Given the description of an element on the screen output the (x, y) to click on. 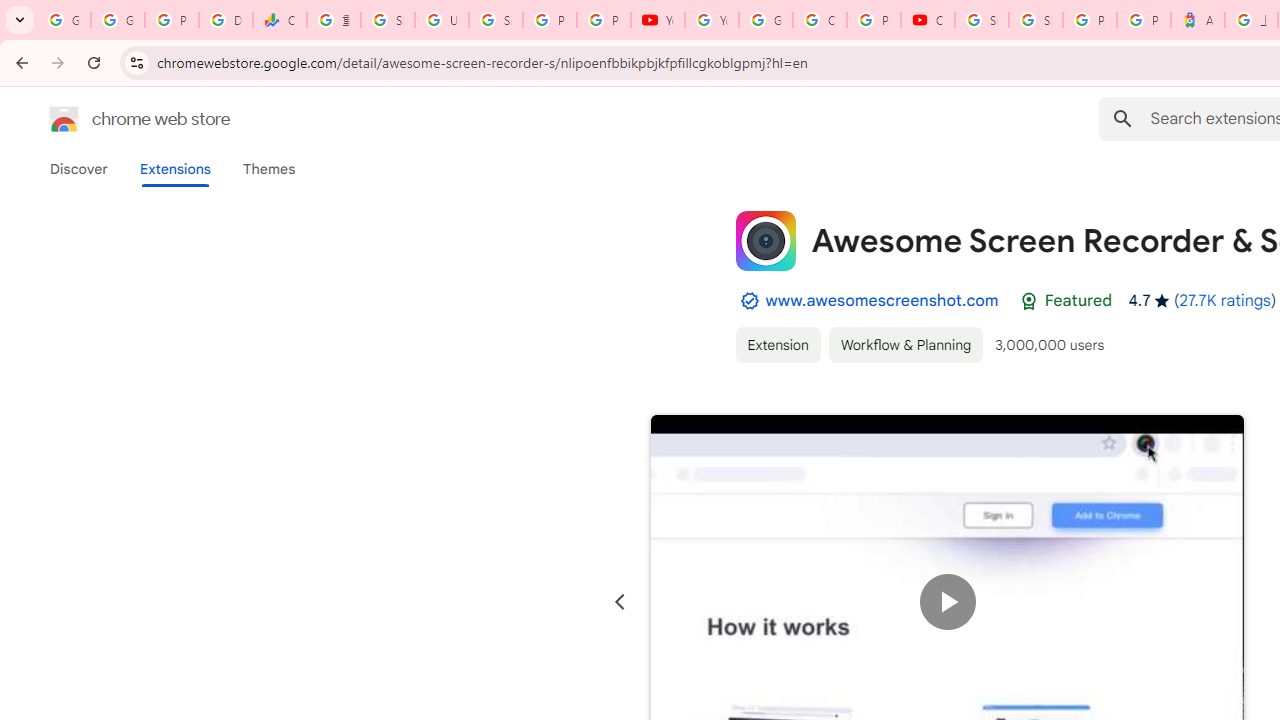
Content Creator Programs & Opportunities - YouTube Creators (927, 20)
Sign in - Google Accounts (495, 20)
Sign in - Google Accounts (387, 20)
Themes (269, 169)
Chrome Web Store logo (63, 118)
Workflow & Planning (906, 344)
Featured Badge (1028, 301)
Atour Hotel - Google hotels (1197, 20)
